Given the description of an element on the screen output the (x, y) to click on. 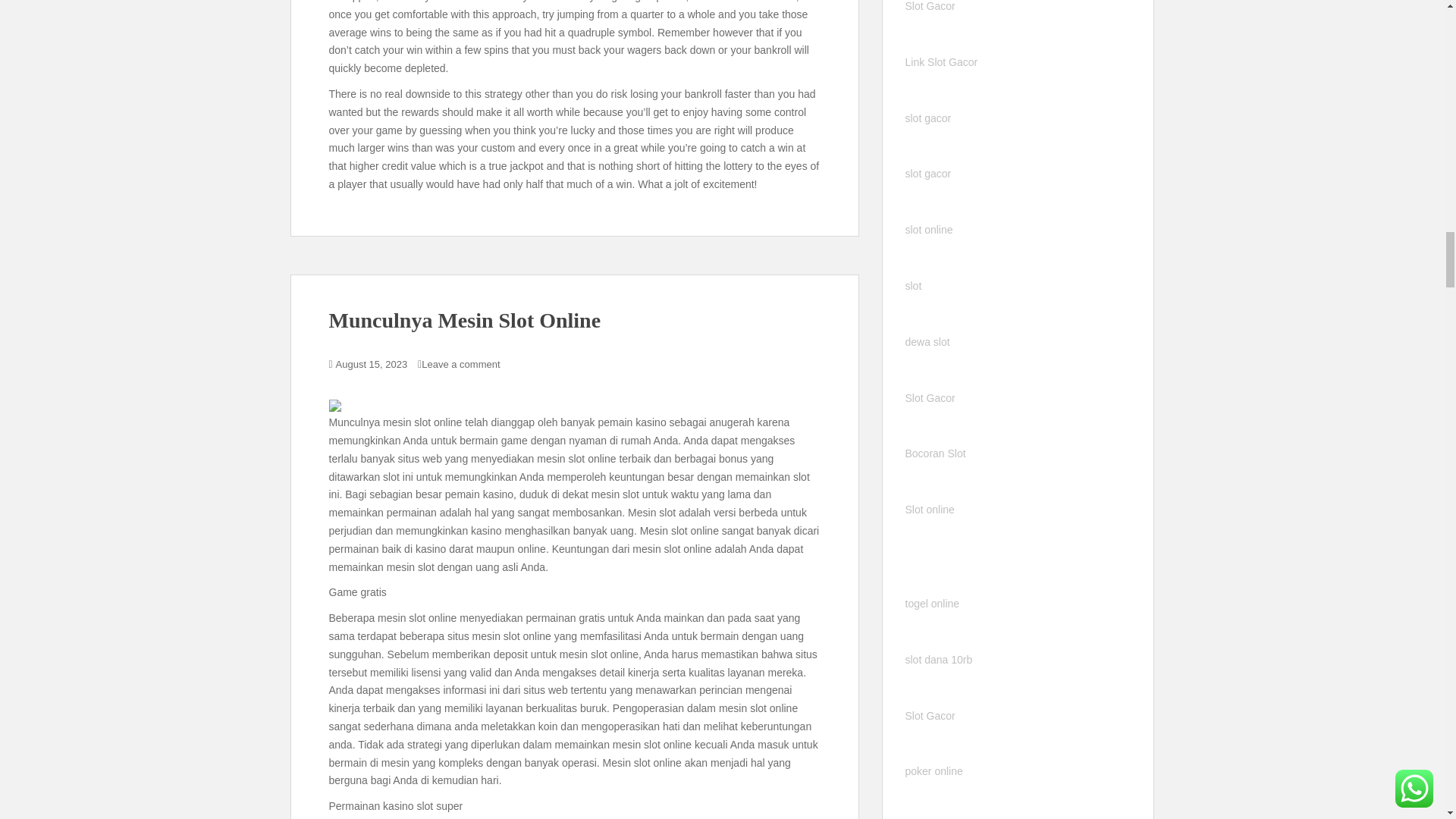
Munculnya Mesin Slot Online (465, 320)
August 15, 2023 (371, 364)
Leave a comment (460, 364)
